Given the description of an element on the screen output the (x, y) to click on. 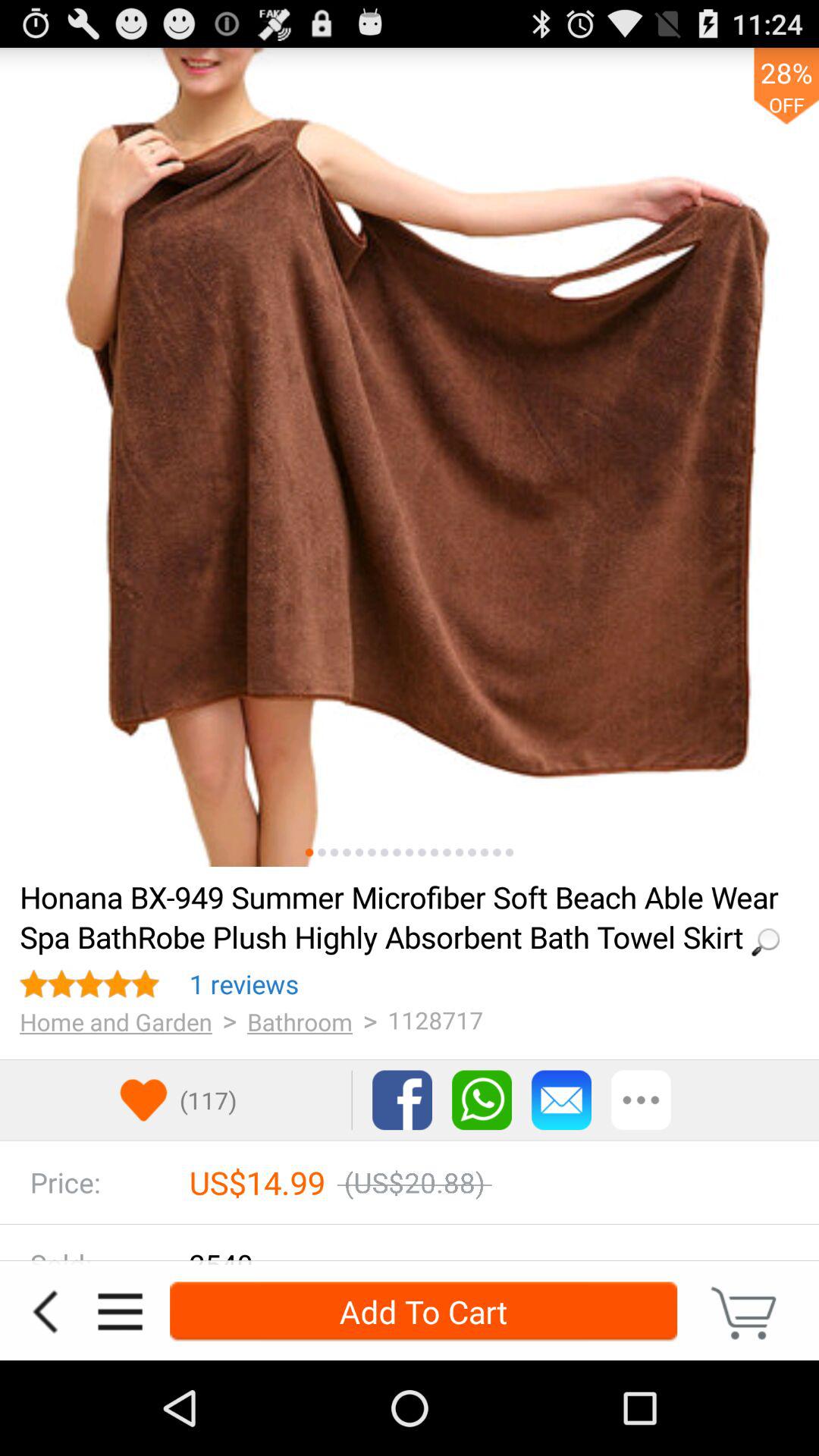
advertisement picture (409, 456)
